Given the description of an element on the screen output the (x, y) to click on. 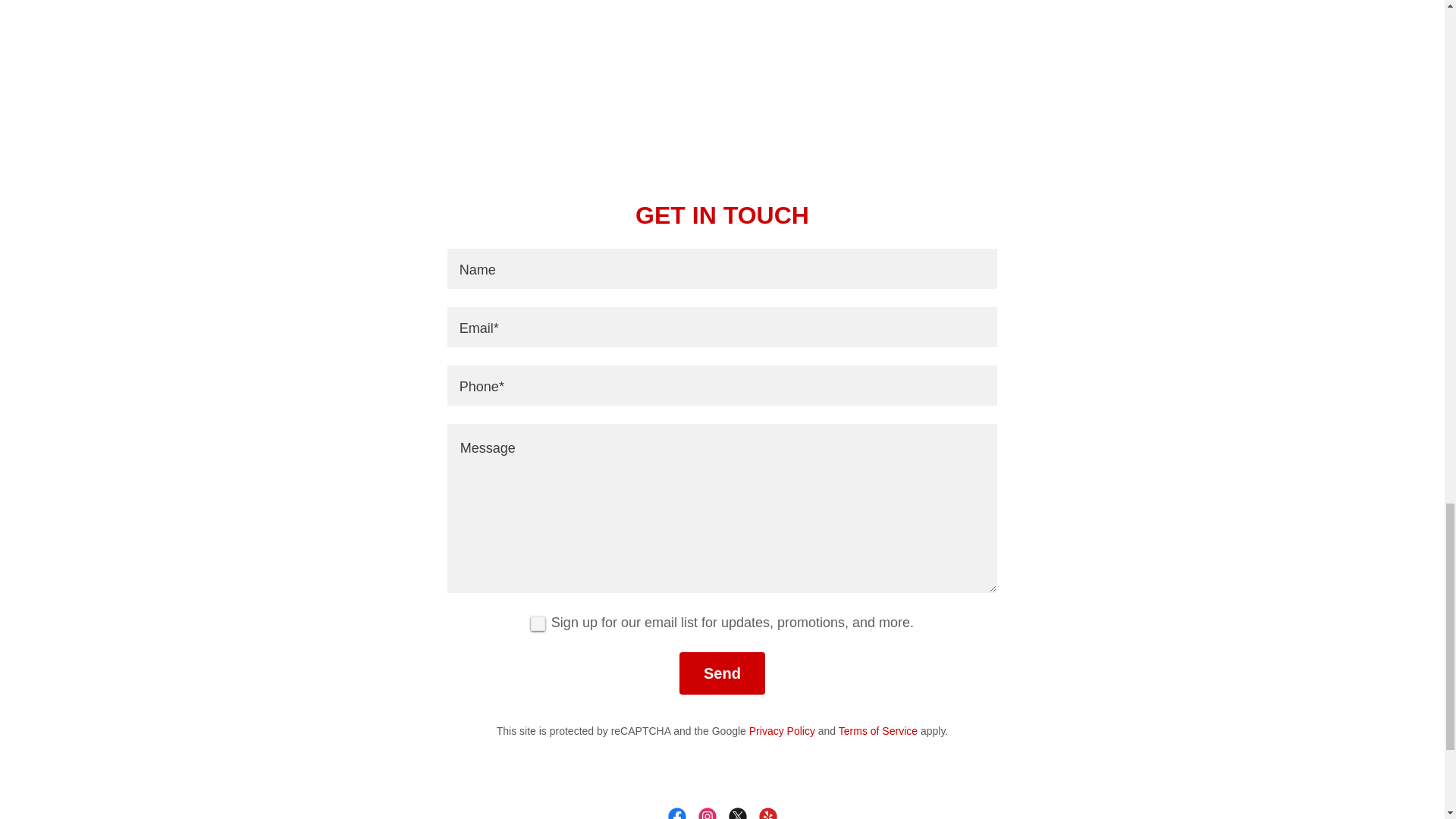
Terms of Service (877, 730)
Send (722, 672)
Privacy Policy (782, 730)
